Given the description of an element on the screen output the (x, y) to click on. 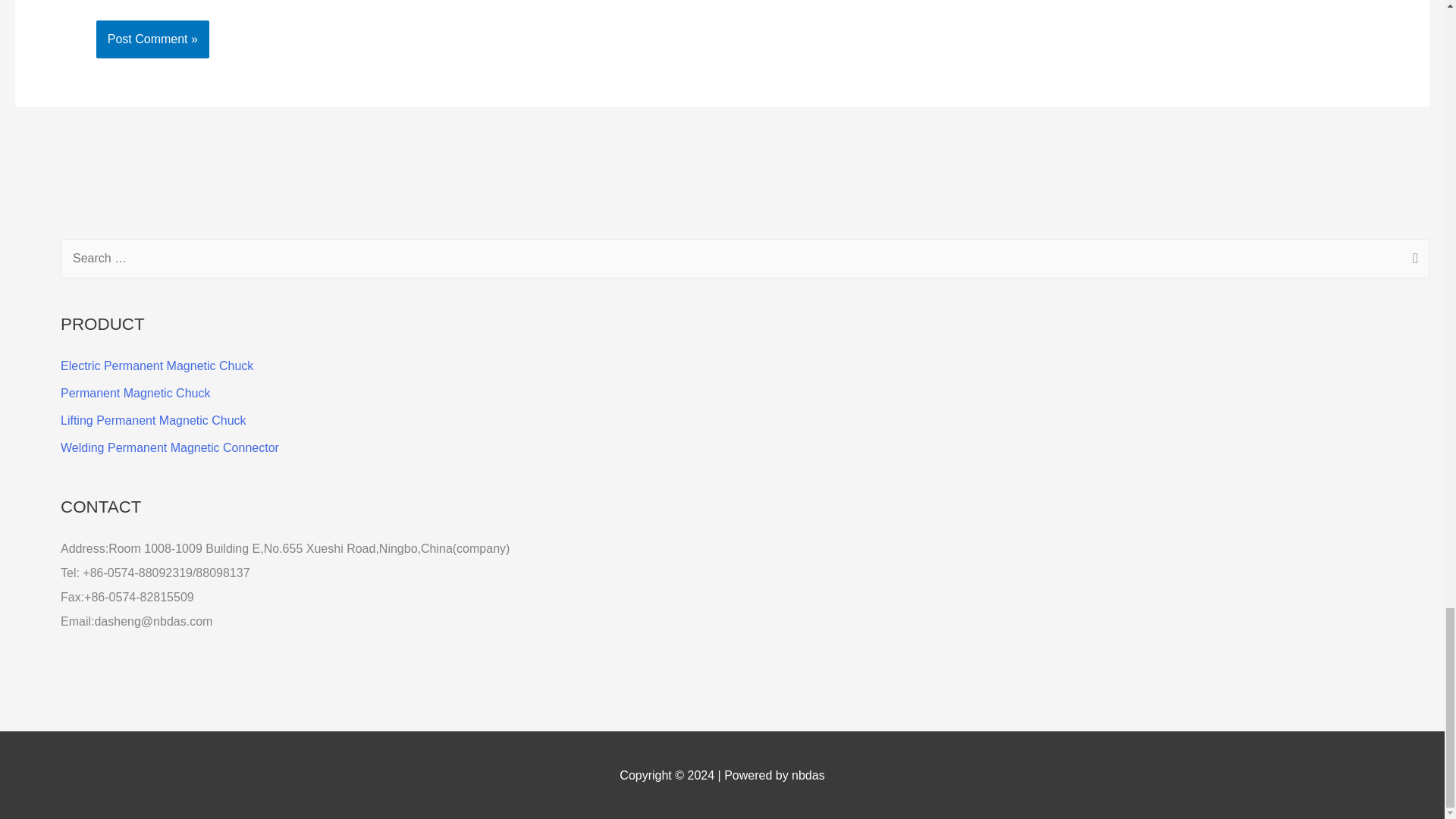
Lifting Permanent Magnetic Chuck (153, 420)
Welding Permanent Magnetic Connector (170, 447)
Permanent Magnetic Chuck (135, 392)
Electric Permanent Magnetic Chuck (157, 365)
